Given the description of an element on the screen output the (x, y) to click on. 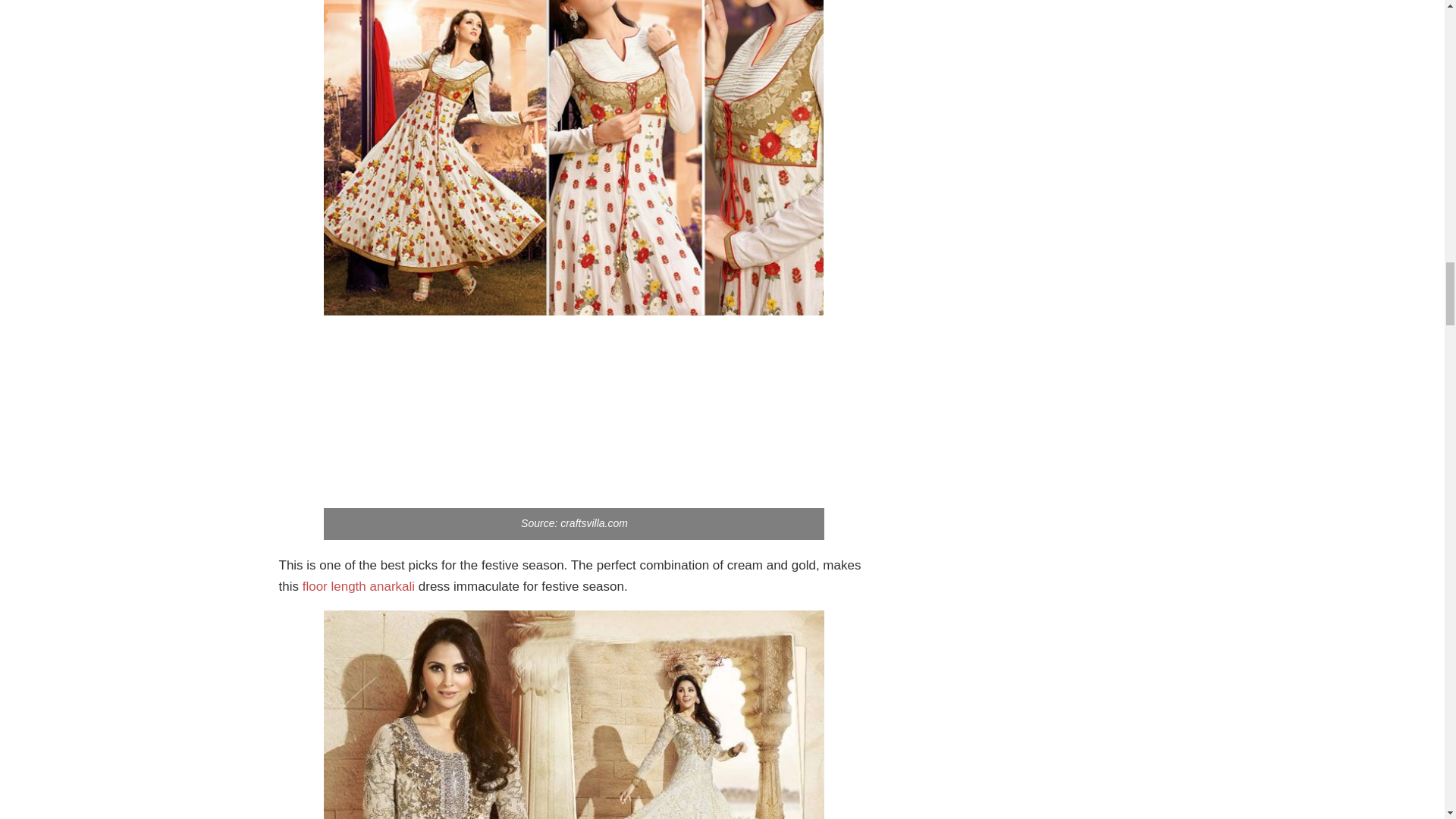
floor length anarkali (358, 586)
floor length anarkali (358, 586)
